Given the description of an element on the screen output the (x, y) to click on. 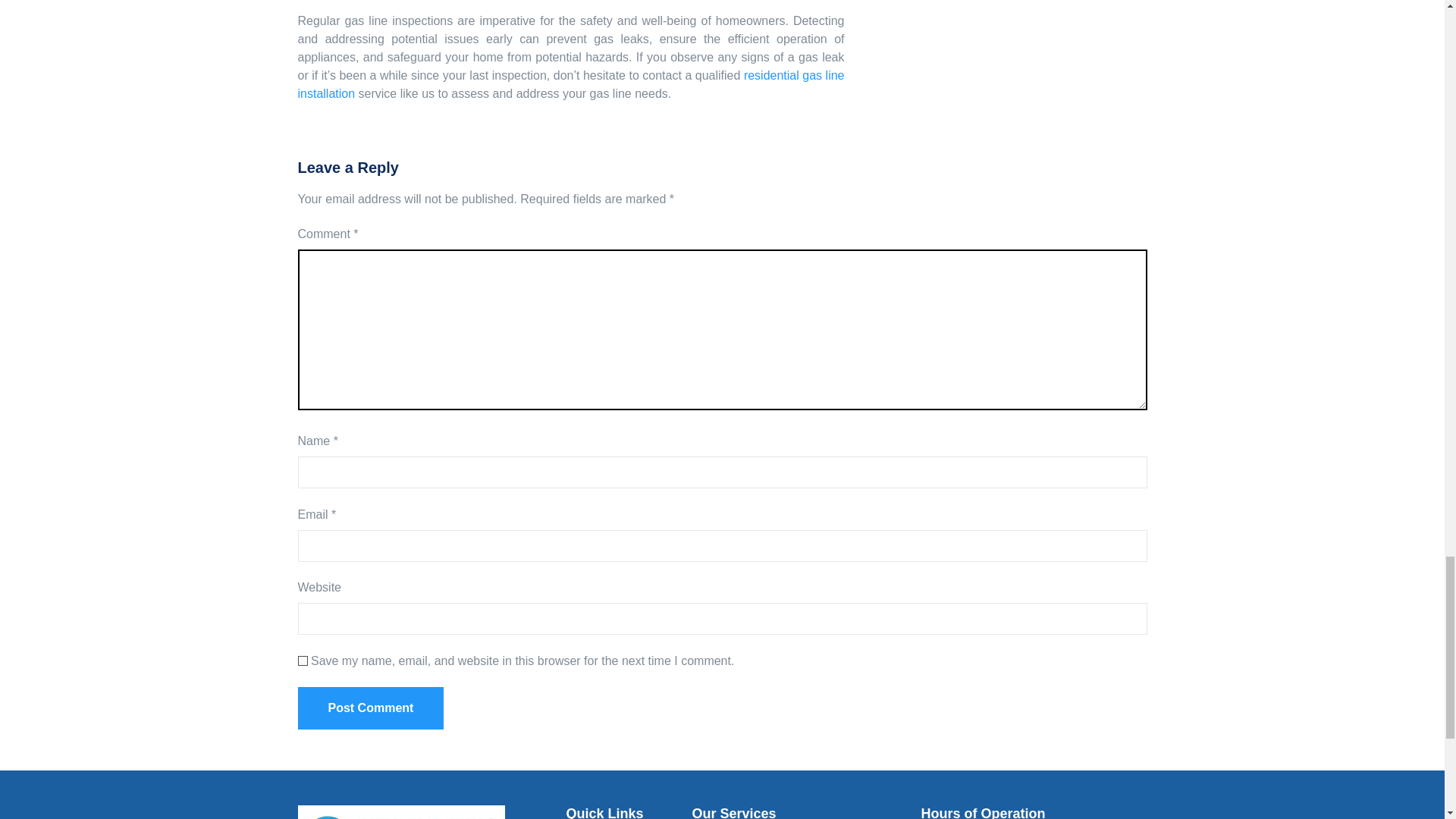
Post Comment (370, 708)
residential gas line installation (570, 83)
